Given the description of an element on the screen output the (x, y) to click on. 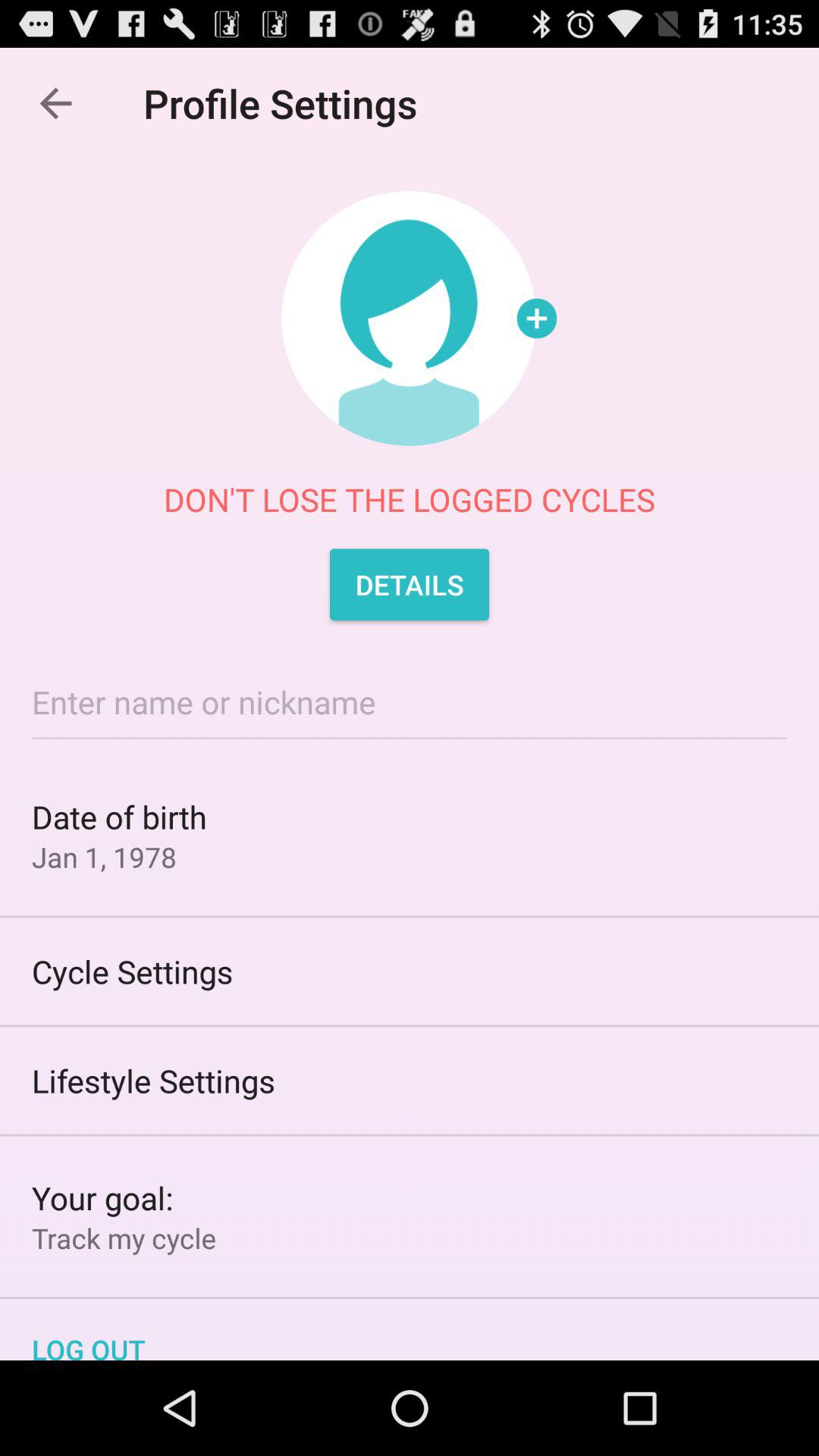
tap the profile settings item (288, 103)
